Given the description of an element on the screen output the (x, y) to click on. 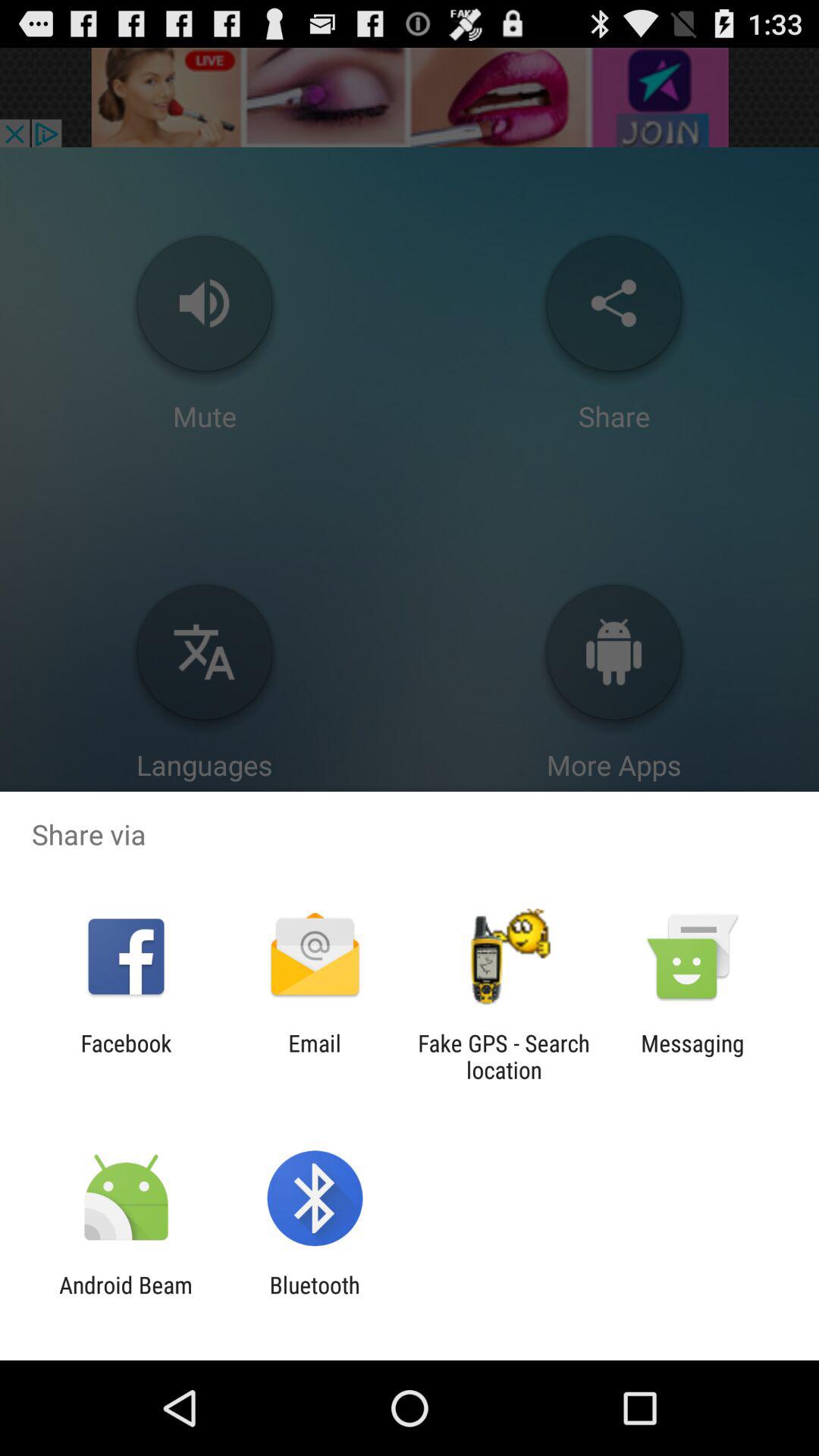
swipe to fake gps search item (503, 1056)
